Given the description of an element on the screen output the (x, y) to click on. 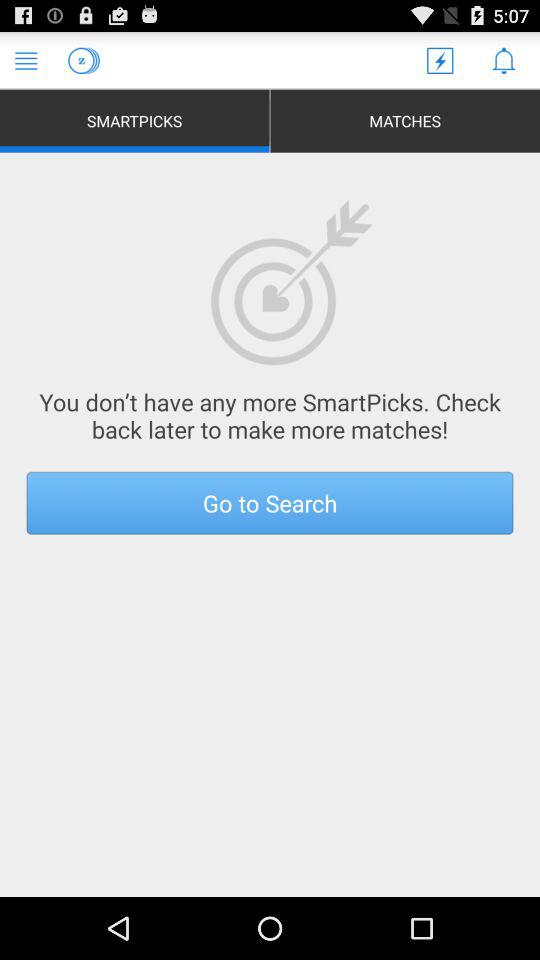
alarm (503, 59)
